Given the description of an element on the screen output the (x, y) to click on. 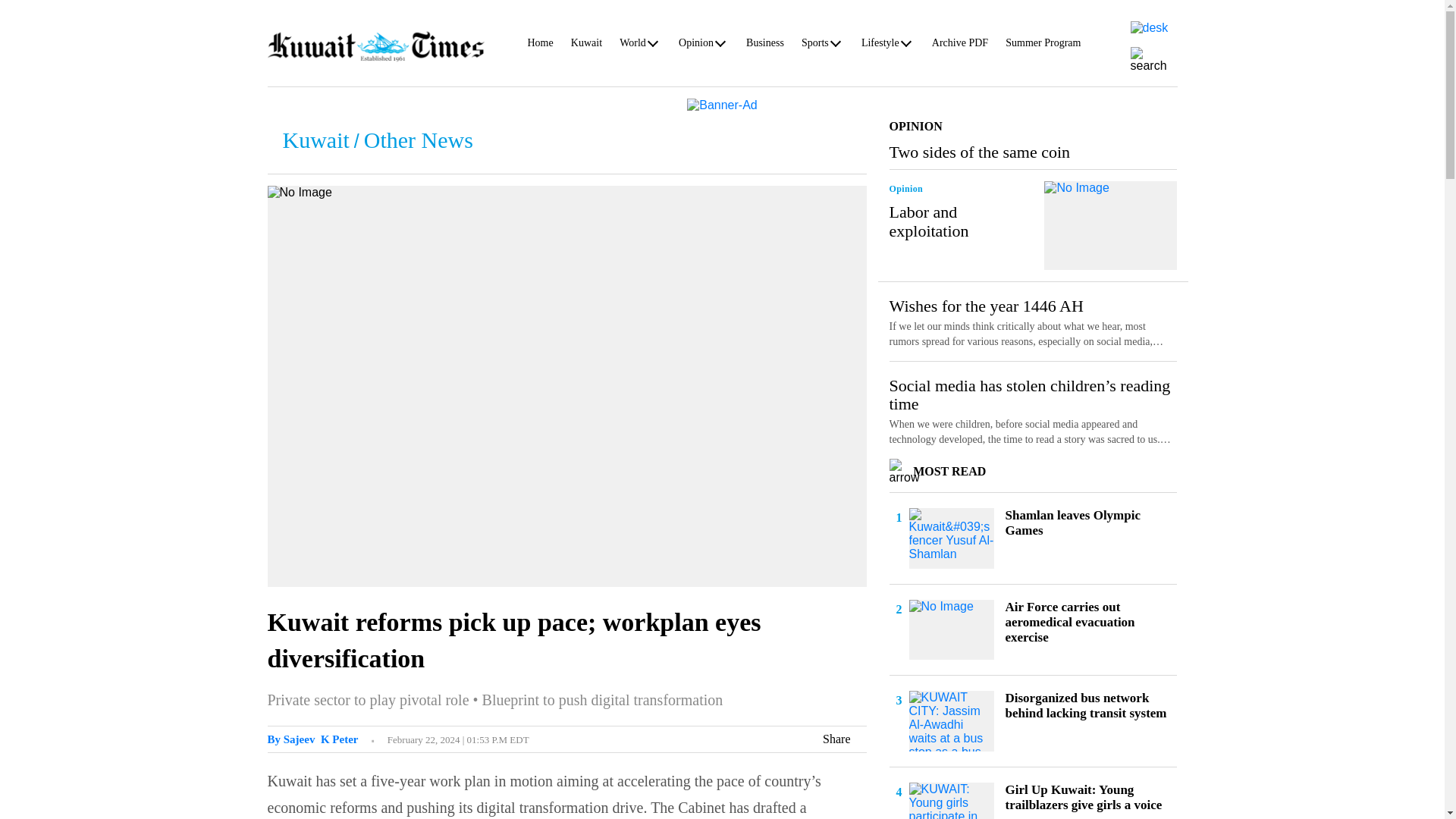
Home (540, 46)
Archive PDF (959, 46)
Home (540, 46)
Sports (815, 46)
Summer Program (1043, 46)
Lifestyle (880, 46)
Opinion (695, 46)
By Sajeev  K Peter (312, 739)
Kuwait (586, 46)
kuwaittimes.com (374, 45)
Banner-Ad (722, 103)
Kuwait (586, 46)
pdf (1148, 26)
Business (764, 46)
Summer Program (1043, 46)
